Given the description of an element on the screen output the (x, y) to click on. 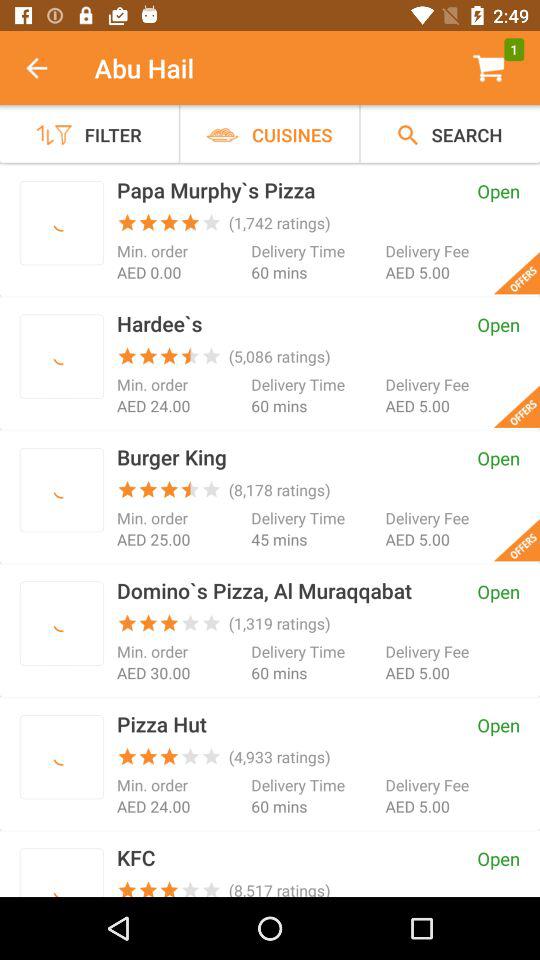
select store (61, 489)
